Given the description of an element on the screen output the (x, y) to click on. 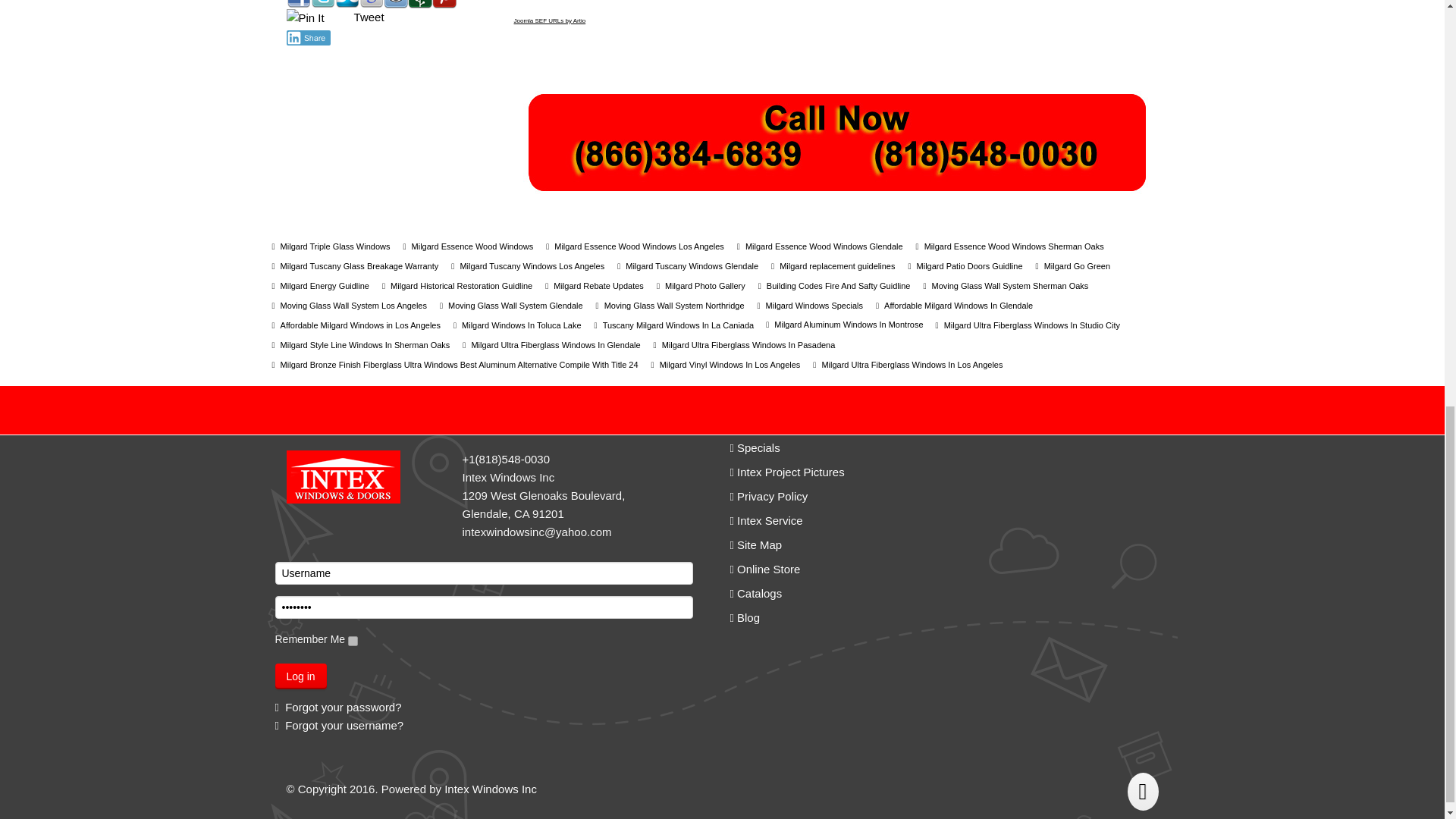
Joomla SEF URLs by Artio (549, 20)
newsvine (419, 4)
Username (484, 572)
yes (352, 641)
Pinterest (444, 4)
Facebook (298, 4)
Google Bookmarks (371, 4)
Pin It (305, 18)
Twitter (322, 4)
Stumbleupon (346, 4)
Log in (300, 676)
reddit (395, 4)
Password (484, 607)
